Given the description of an element on the screen output the (x, y) to click on. 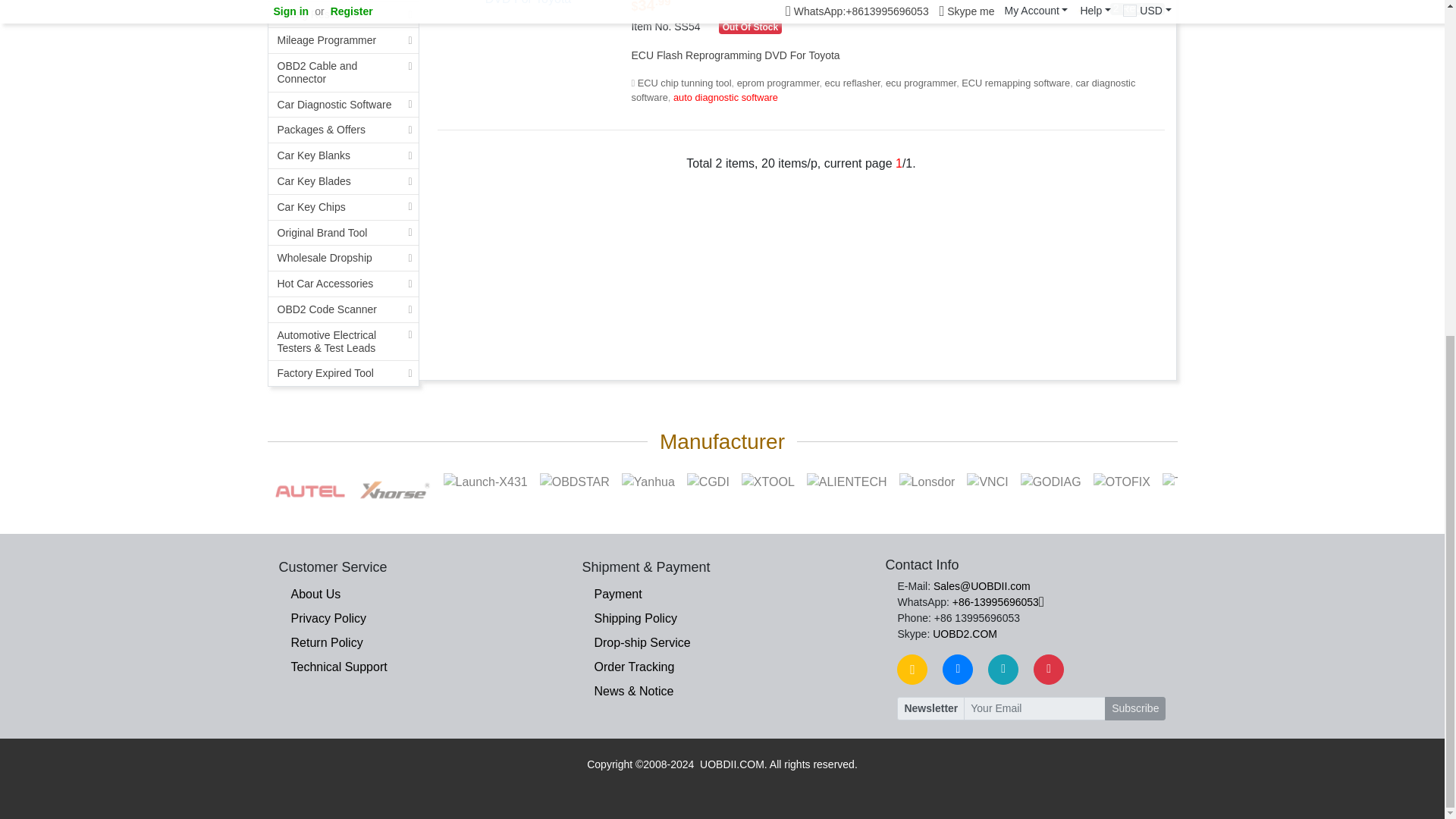
Twitter (1002, 669)
Facebook (957, 669)
YouTube (1048, 669)
UOBDII Official Blog (911, 669)
